Given the description of an element on the screen output the (x, y) to click on. 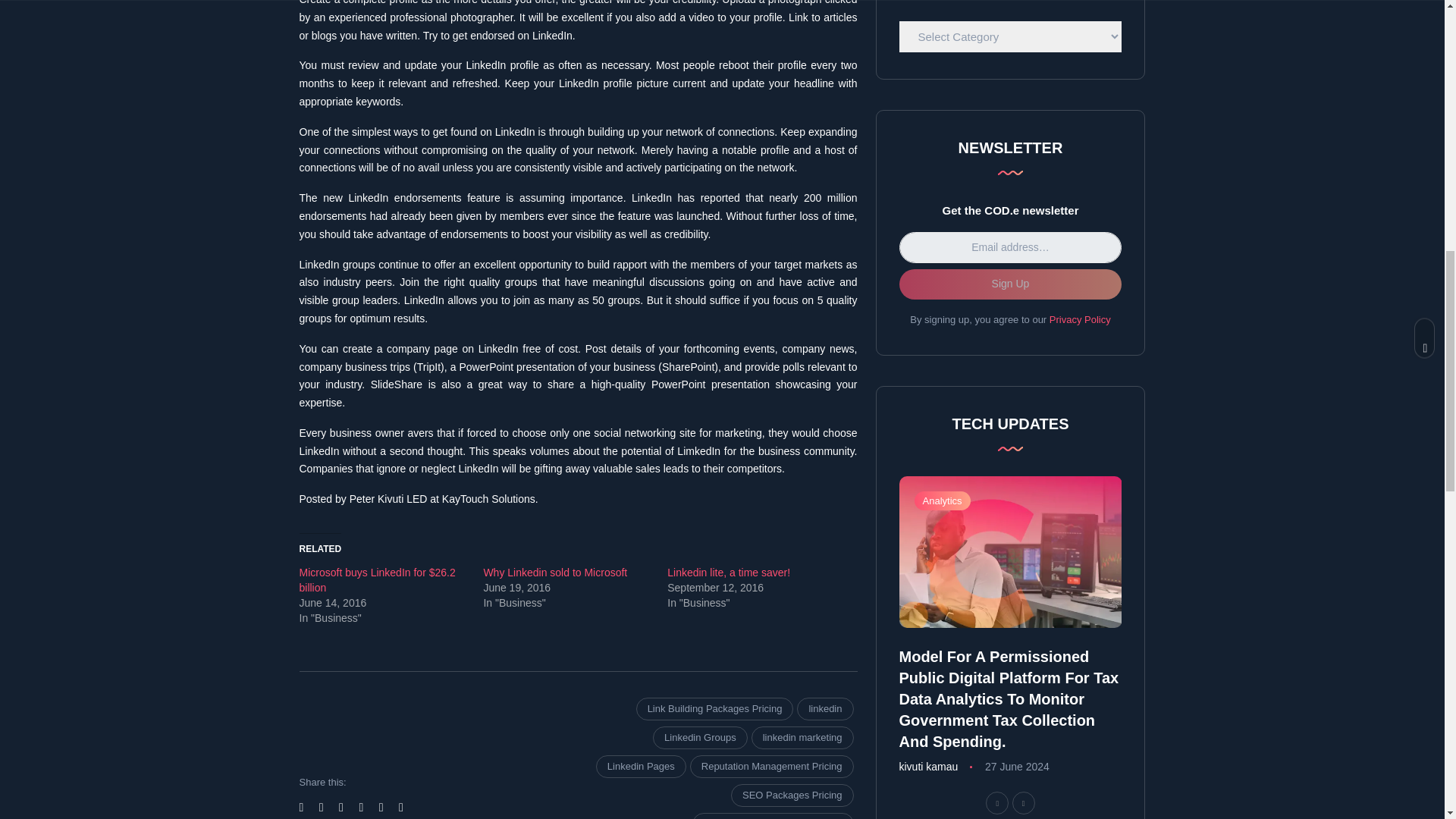
Linkedin lite, a time saver! (728, 572)
Posts by kivuti kamau (928, 766)
Why Linkedin sold to Microsoft (555, 572)
Linkedin lite, a time saver! (728, 572)
Why Linkedin sold to Microsoft (555, 572)
